Given the description of an element on the screen output the (x, y) to click on. 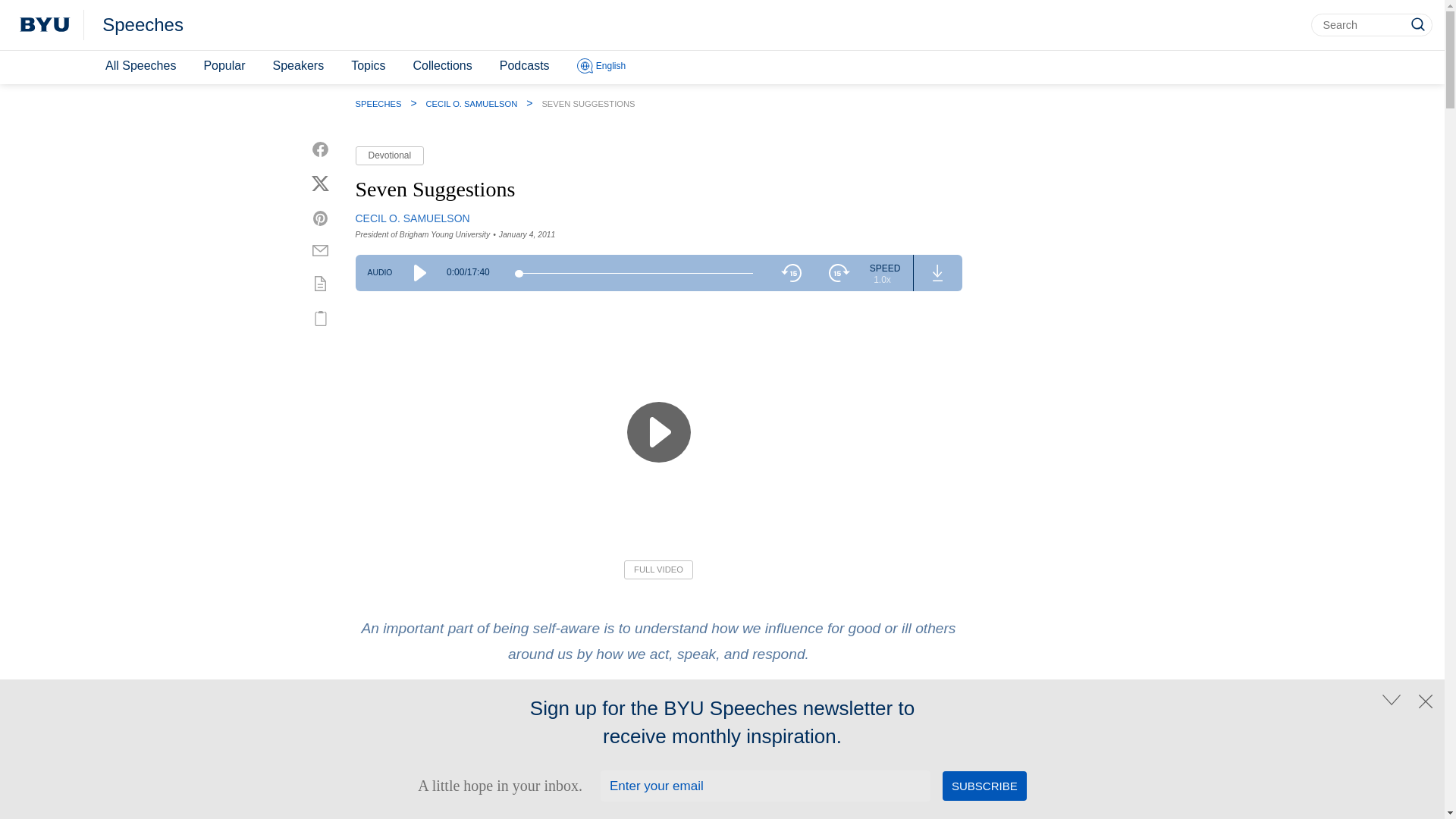
Speakers (298, 65)
Popular (223, 65)
Speeches (142, 25)
All Speeches (140, 65)
Subscribe (984, 785)
CECIL O. SAMUELSON (411, 218)
SPEECHES (378, 103)
English (600, 67)
Collections (441, 65)
CECIL O. SAMUELSON (472, 103)
Podcasts (524, 65)
Devotional (389, 155)
Topics (368, 65)
